Given the description of an element on the screen output the (x, y) to click on. 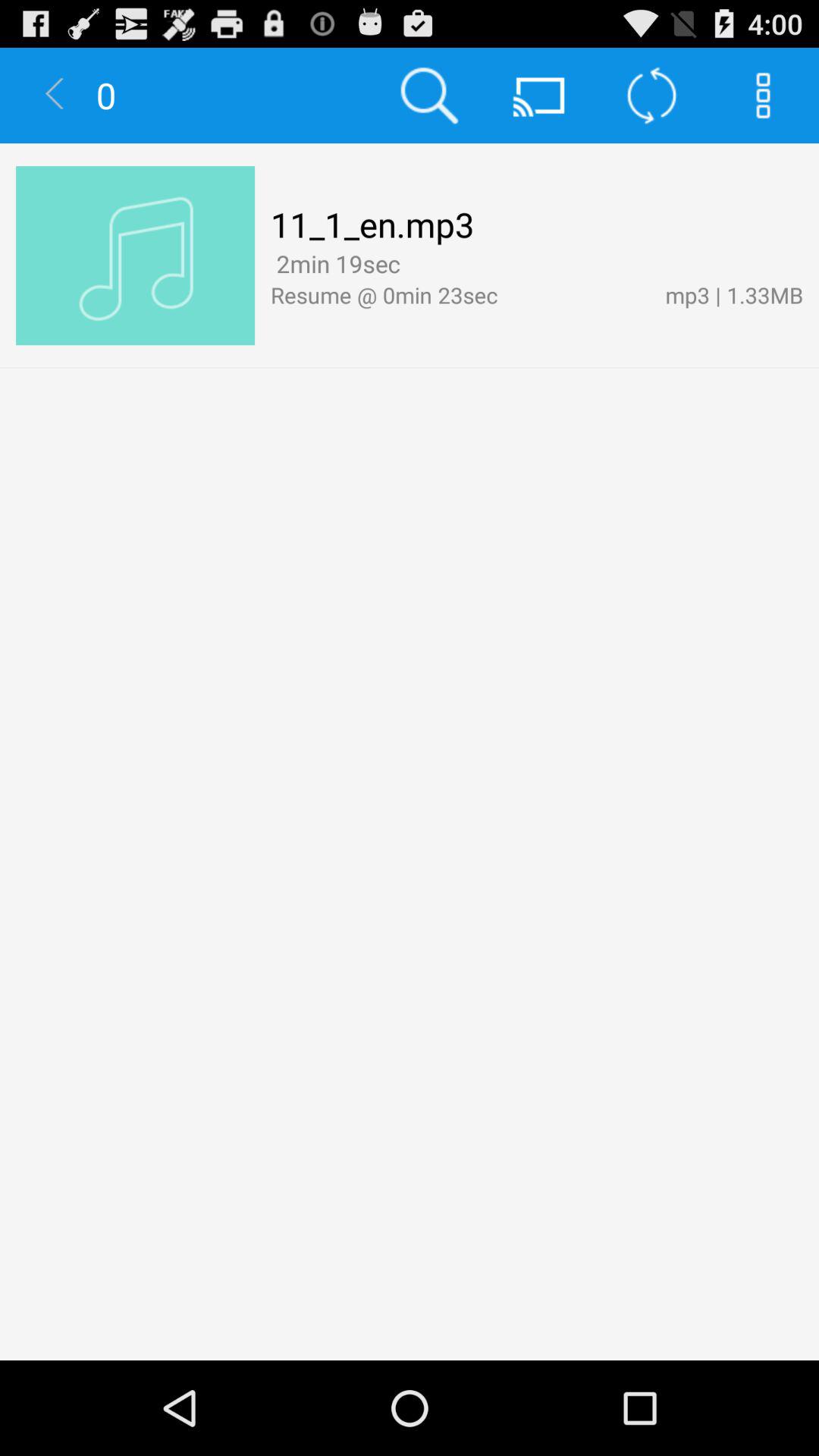
open icon to the left of mp3 | 1.33mb app (459, 294)
